Given the description of an element on the screen output the (x, y) to click on. 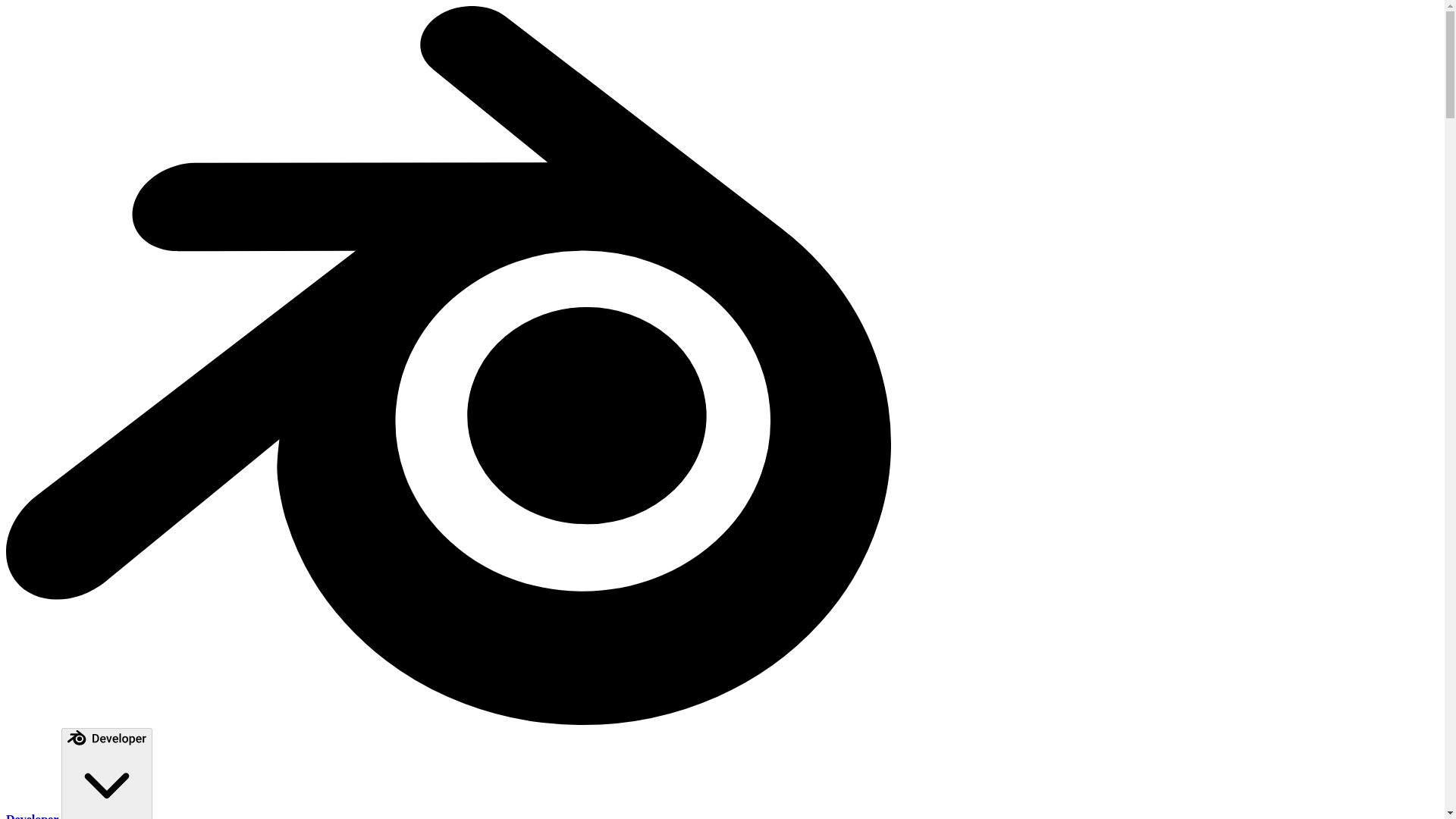
Developer (449, 766)
